Given the description of an element on the screen output the (x, y) to click on. 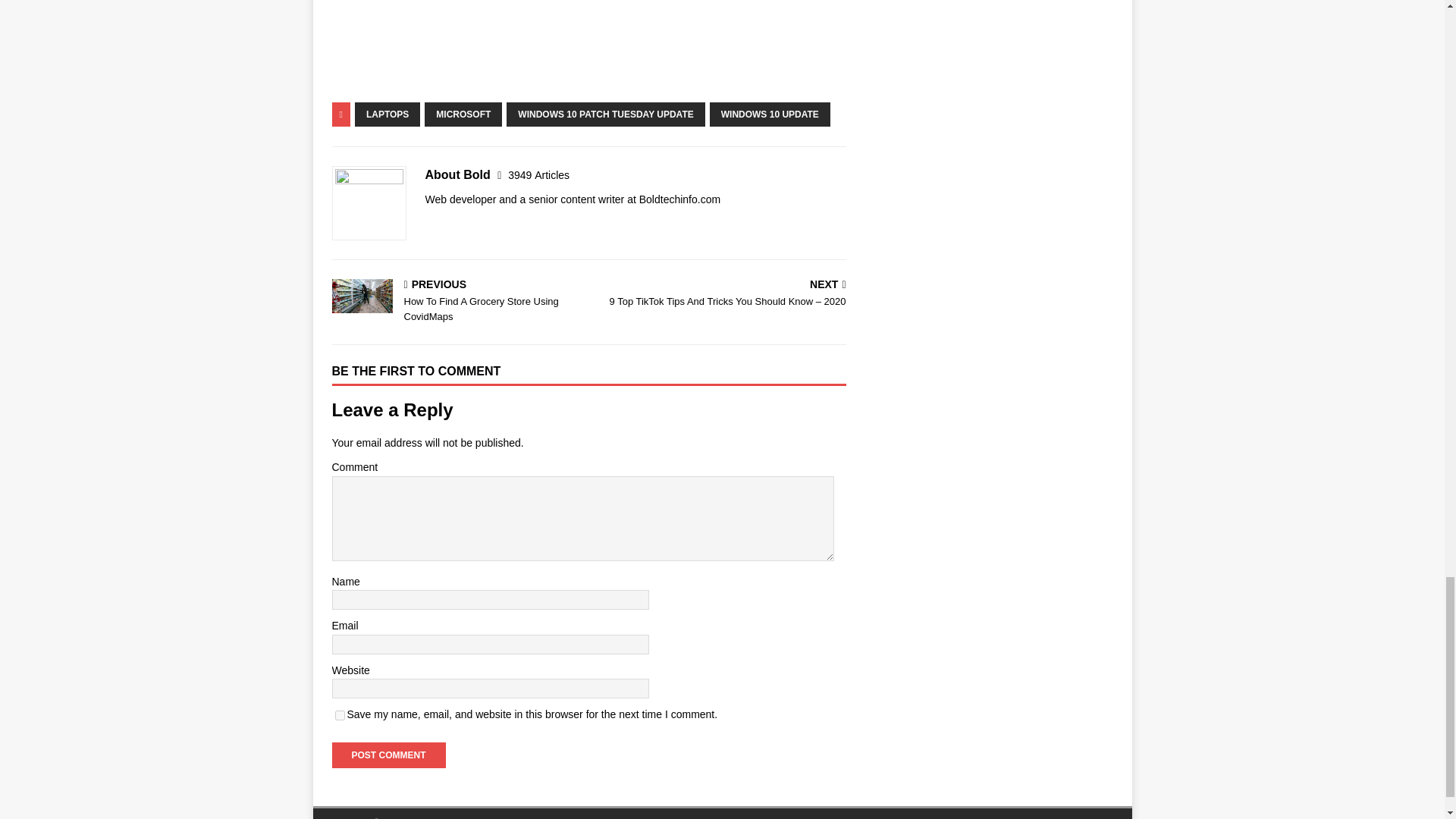
More articles written by Bold' (538, 174)
Post Comment (388, 755)
yes (339, 715)
